Given the description of an element on the screen output the (x, y) to click on. 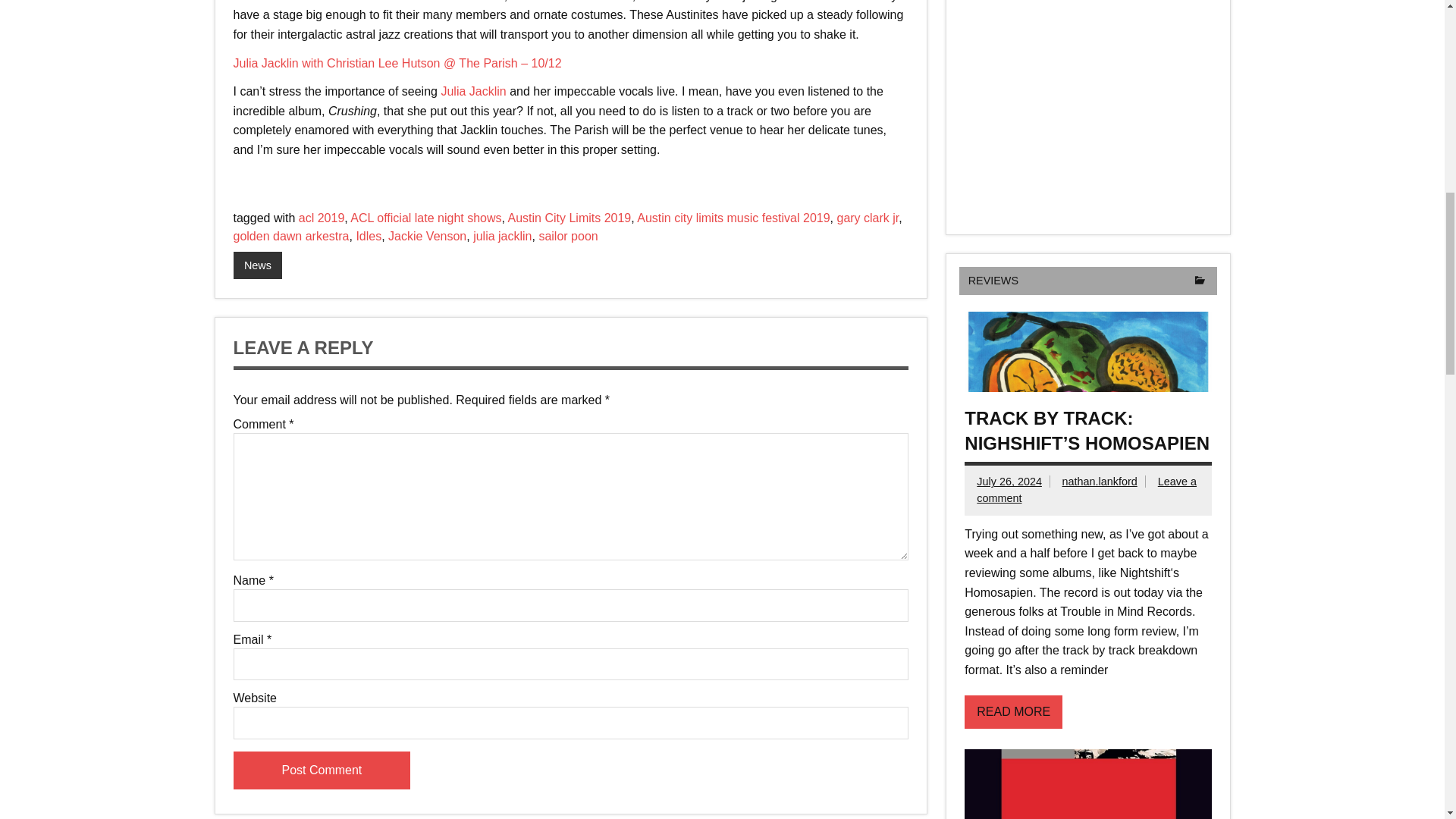
ACL official late night shows (425, 217)
10:09 am (1009, 481)
REVIEWS (992, 280)
Post Comment (321, 770)
News (257, 265)
Golden Dawn Arkestra (571, 1)
acl 2019 (321, 217)
View all posts by nathan.lankford (1099, 481)
Austin City Limits 2019 (569, 217)
sailor poon (567, 236)
Austin city limits music festival 2019 (733, 217)
golden dawn arkestra (290, 236)
View all posts from category Reviews (1200, 281)
Spotify Embed: ATH DJ - Oddwood Emo 5.30.24 (1087, 106)
View all posts from category Reviews (992, 280)
